Given the description of an element on the screen output the (x, y) to click on. 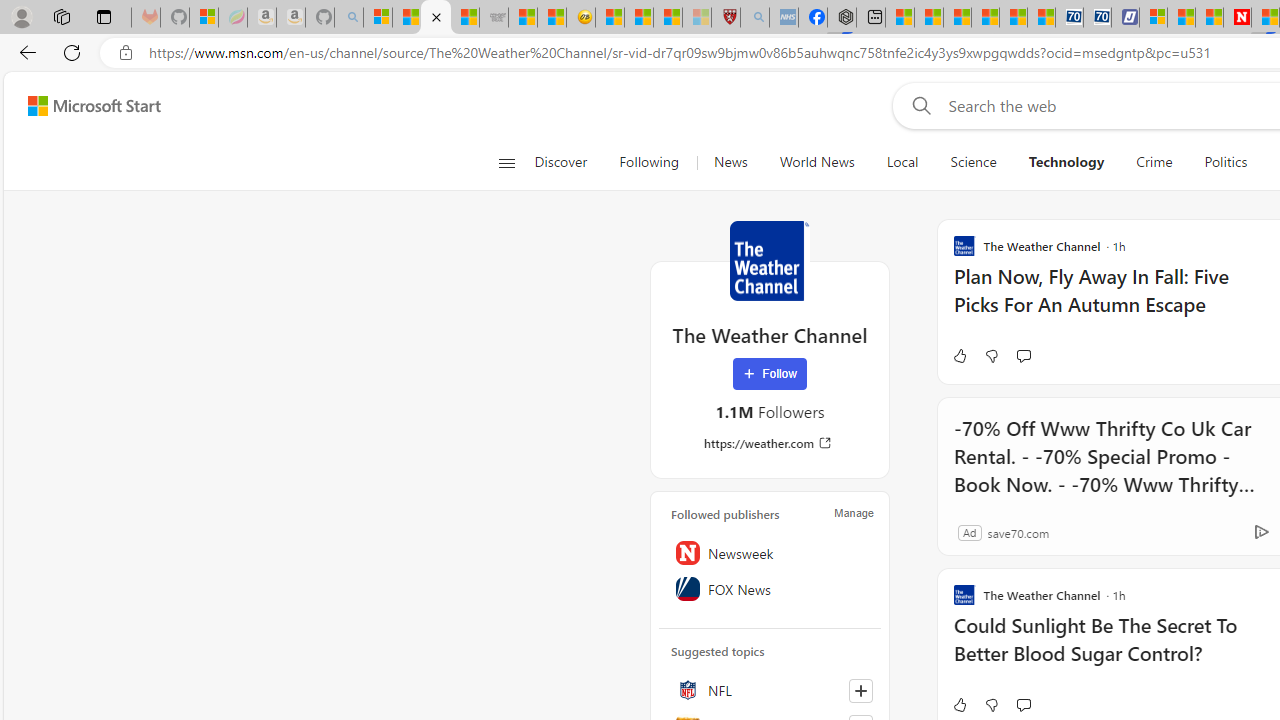
12 Popular Science Lies that Must be Corrected - Sleeping (696, 17)
FOX News (770, 588)
